Given the description of an element on the screen output the (x, y) to click on. 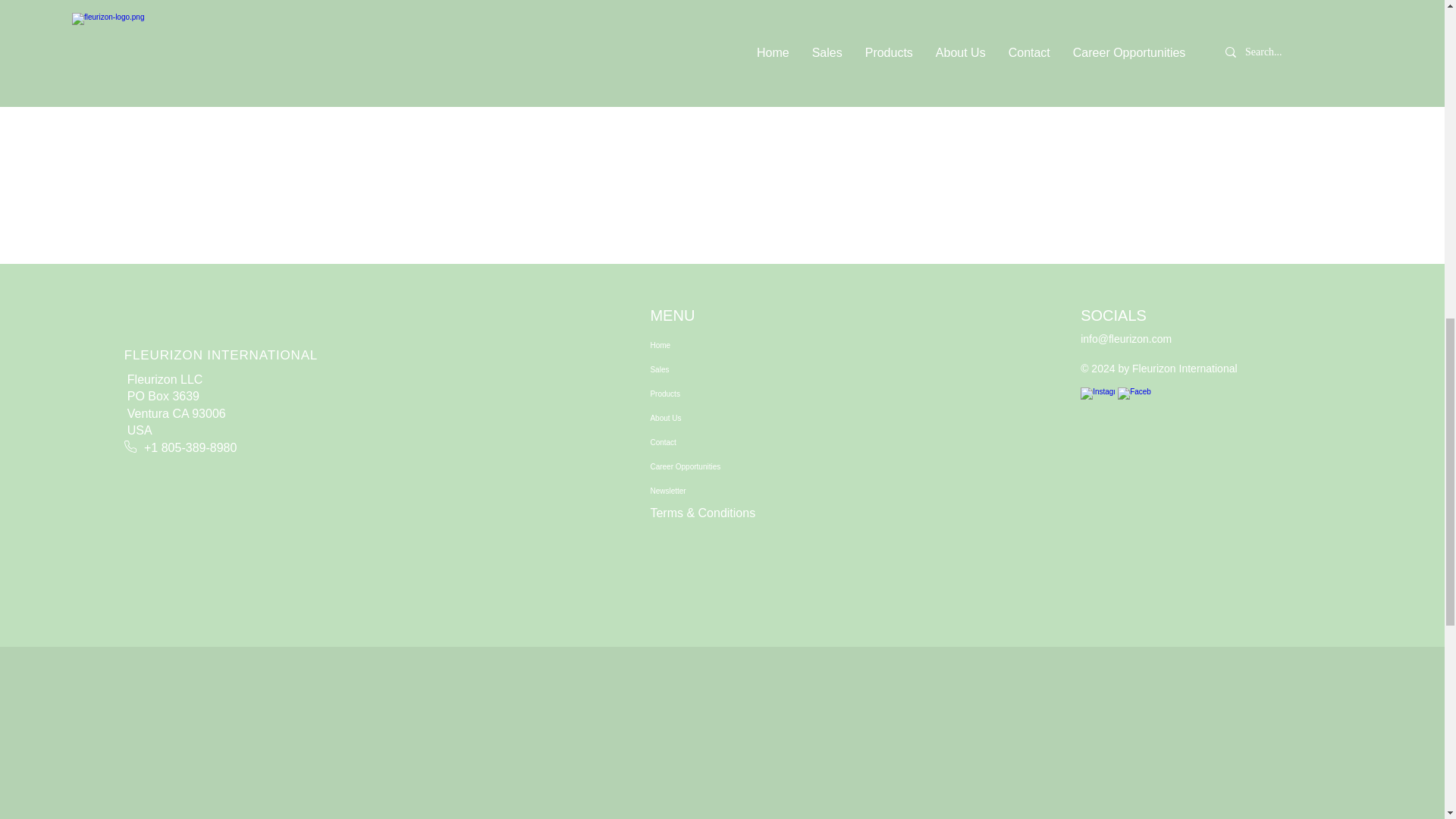
Home (720, 345)
FLEURIZON INTERNATIONAL (220, 355)
Sales (720, 369)
Screen Shot 2023-11-16 at 2.20.05 PM.png (709, 97)
About Us (720, 418)
Contact (720, 442)
Screen Shot 2023-11-16 at 2.20.05 PM.png (914, 97)
Screen Shot 2023-11-16 at 2.20.05 PM.png (477, 86)
Newsletter (720, 491)
Products (720, 394)
Career Opportunities (720, 467)
